Given the description of an element on the screen output the (x, y) to click on. 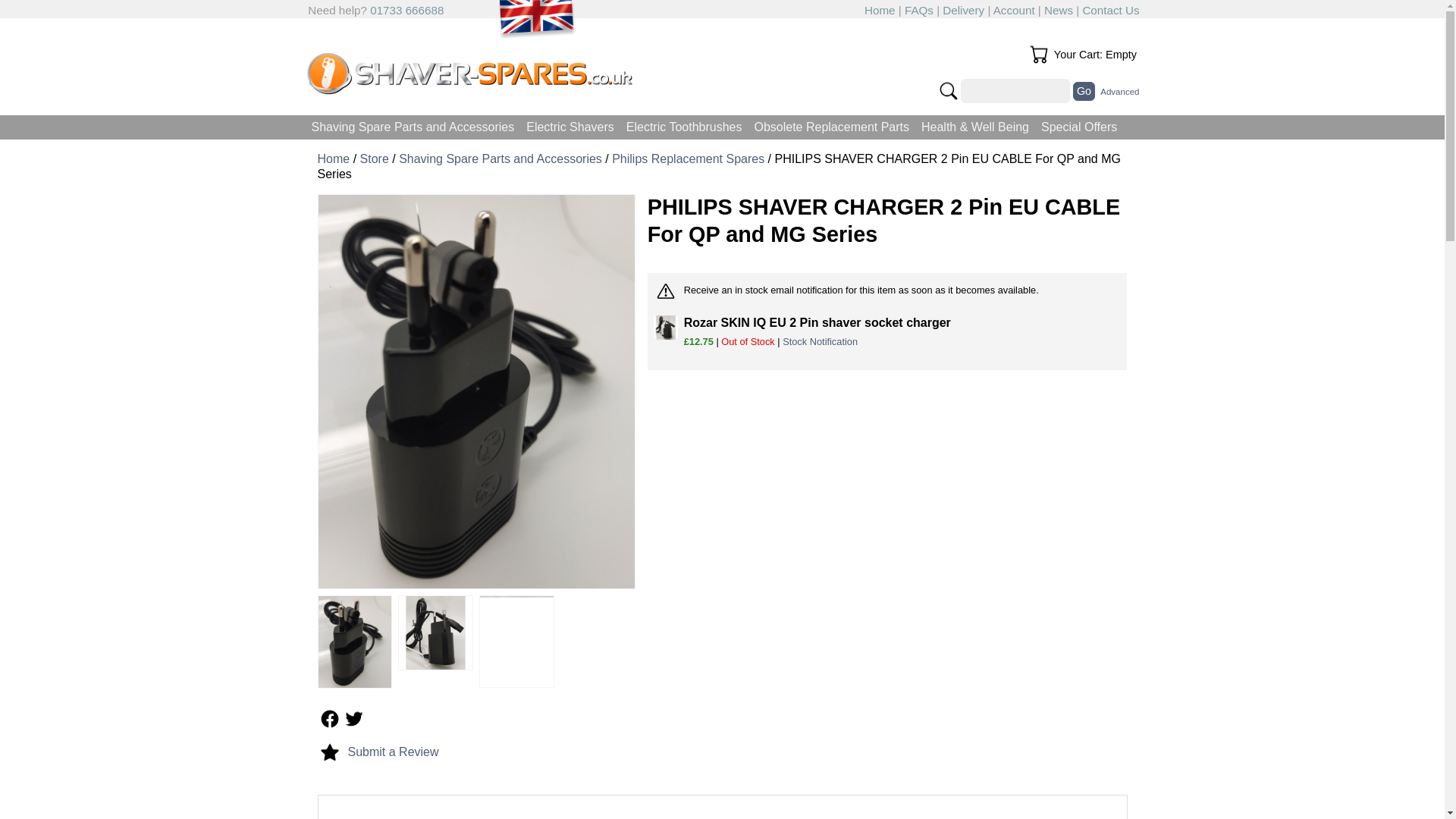
Home (879, 10)
Follow Us (328, 718)
Submit a Review (392, 751)
FAQs (918, 10)
FAQs (918, 10)
Delivery (963, 10)
Store (373, 158)
Store (373, 158)
Account (1013, 10)
Go (1083, 90)
